Given the description of an element on the screen output the (x, y) to click on. 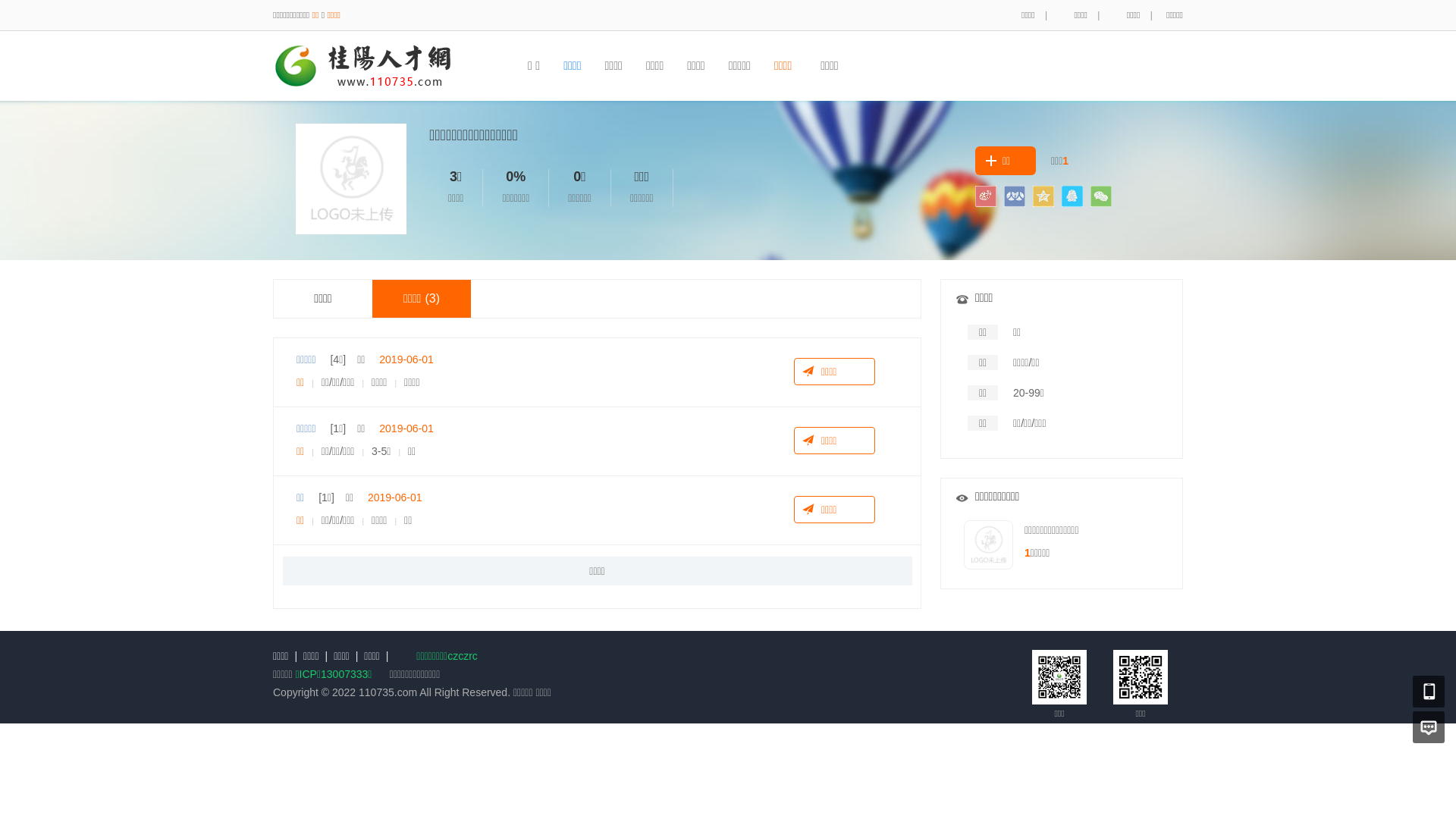
1 Element type: text (1027, 552)
